Given the description of an element on the screen output the (x, y) to click on. 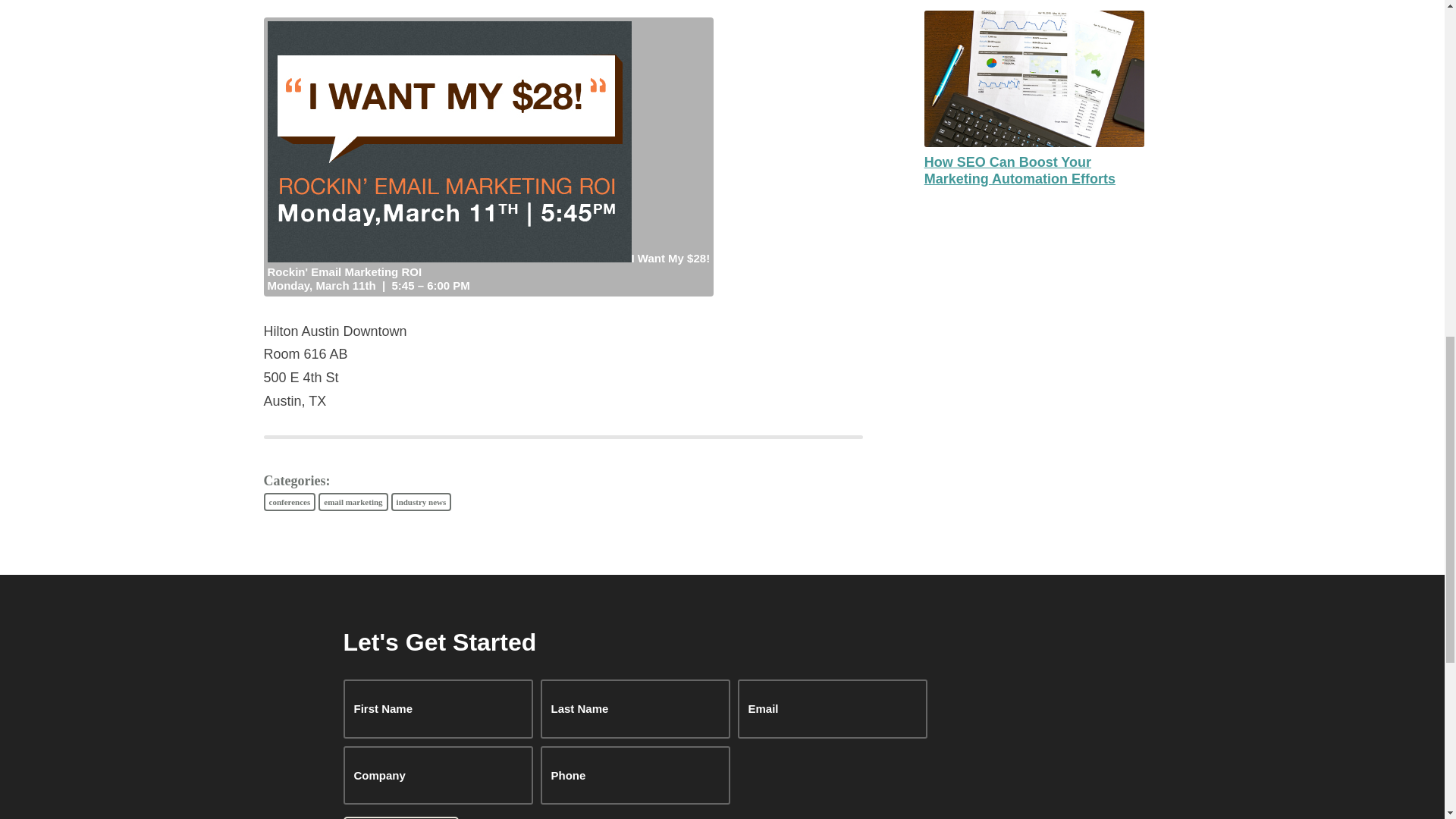
Contact Me (400, 817)
